Given the description of an element on the screen output the (x, y) to click on. 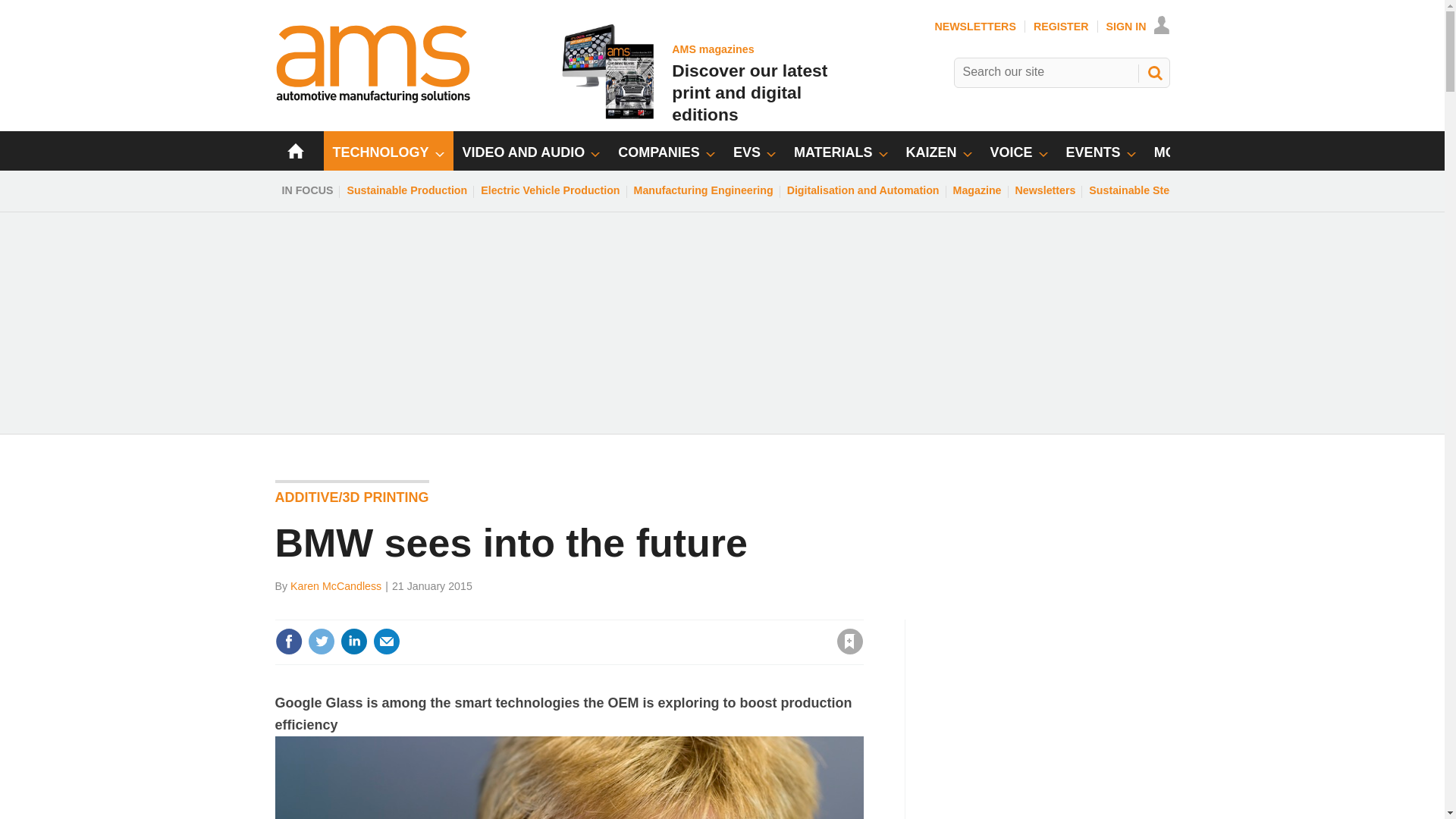
3rd party ad content (690, 71)
Share this on Twitter (1055, 714)
SIGN IN (320, 641)
Manufacturing Engineering (1138, 26)
Newsletters (703, 190)
Share this on Linked in (1046, 190)
Email this article (352, 641)
Share this on Facebook (386, 641)
Magazine (288, 641)
